Given the description of an element on the screen output the (x, y) to click on. 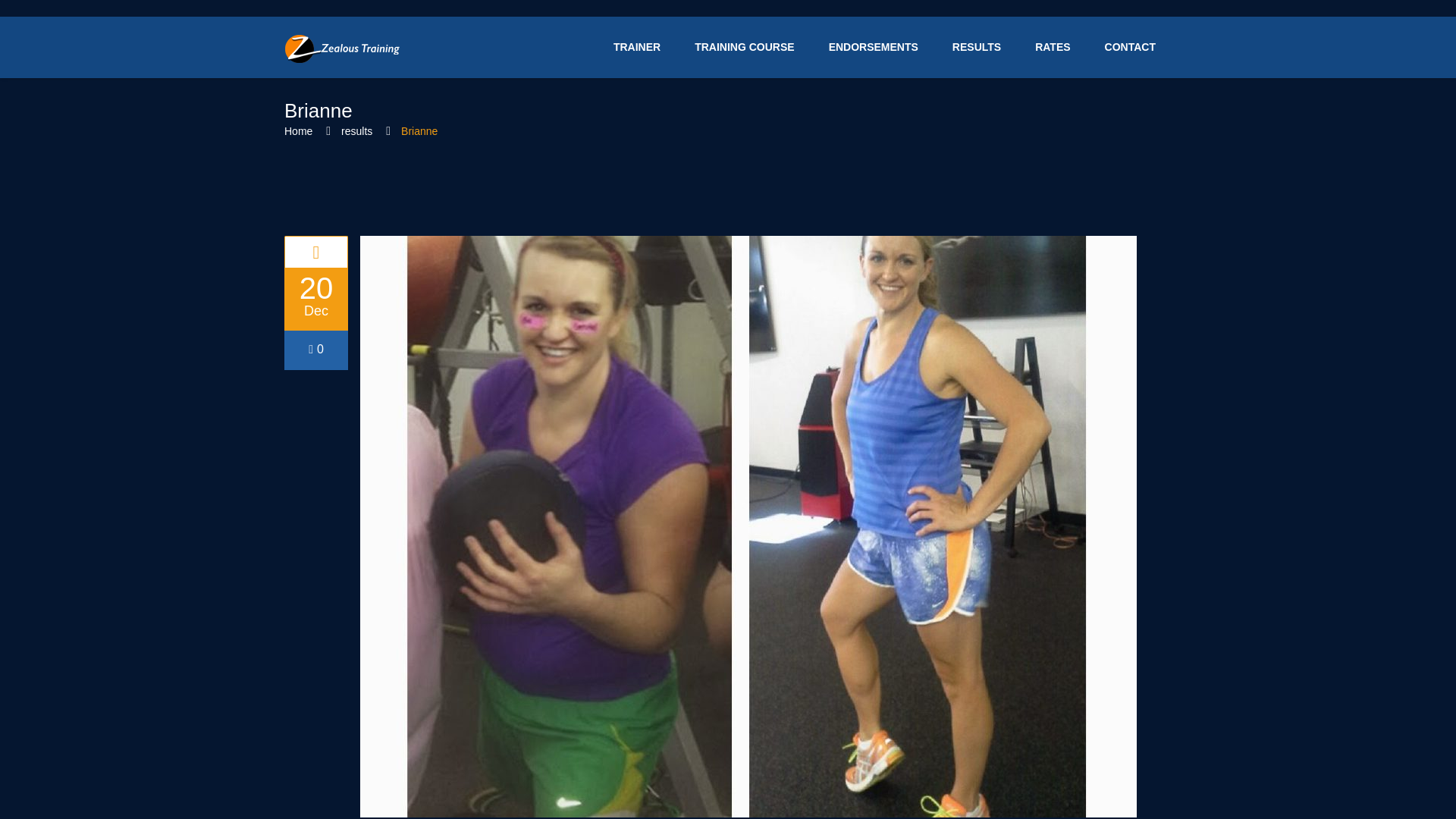
0 (315, 349)
Brianne (315, 251)
ZealousTraining (340, 46)
RATES (1052, 46)
Home (298, 131)
RESULTS (976, 46)
CONTACT (1130, 46)
ENDORSEMENTS (873, 46)
ZealousTraining (340, 48)
TRAINER (636, 46)
TRAINING COURSE (743, 46)
results (356, 131)
